Given the description of an element on the screen output the (x, y) to click on. 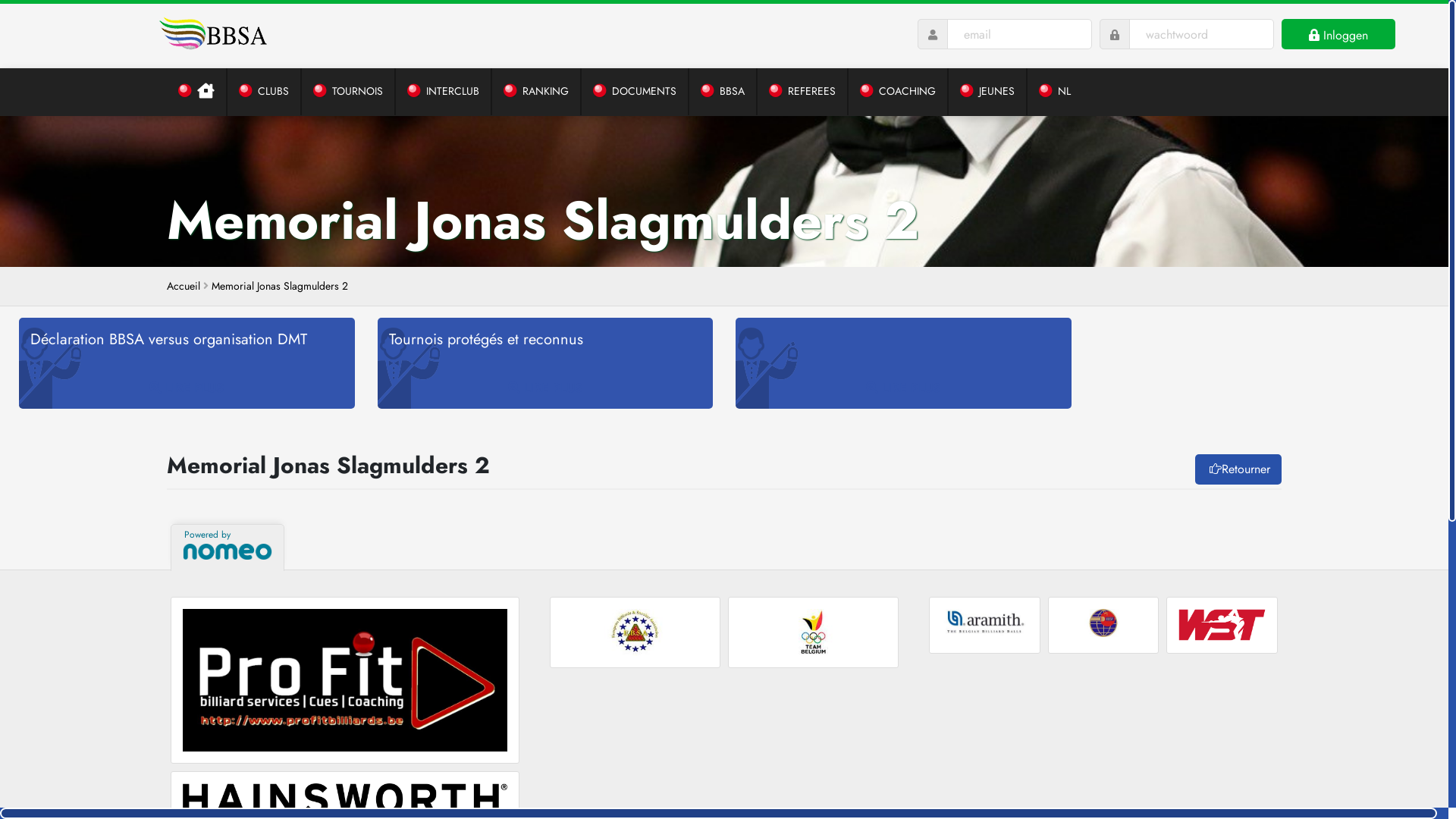
BBSA Element type: text (723, 91)
LIRE PLUS Element type: text (903, 362)
REFEREES Element type: text (802, 91)
RANKING Element type: text (536, 91)
INTERCLUB Element type: text (443, 91)
Accueil Element type: text (183, 286)
COACHING Element type: text (898, 91)
NL Element type: text (1054, 91)
Powered by Element type: text (227, 547)
CLUBS Element type: text (264, 91)
TOURNOIS Element type: text (348, 91)
DOCUMENTS Element type: text (635, 91)
Inloggen Element type: text (1338, 33)
JEUNES Element type: text (987, 91)
Retourner Element type: text (1238, 469)
